Given the description of an element on the screen output the (x, y) to click on. 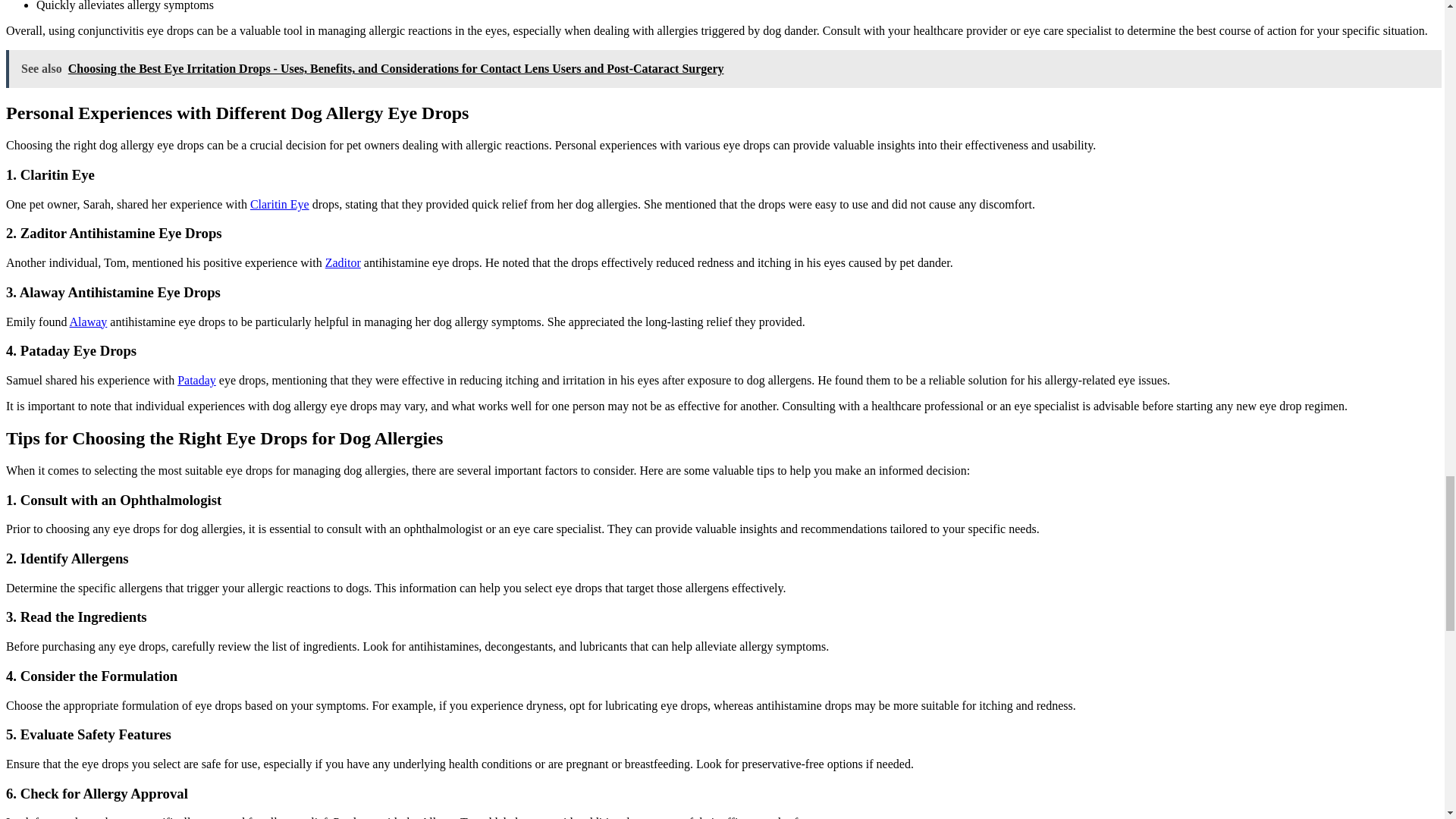
Alaway (88, 321)
Pataday (196, 379)
Zaditor (342, 262)
Claritin Eye (279, 204)
